Given the description of an element on the screen output the (x, y) to click on. 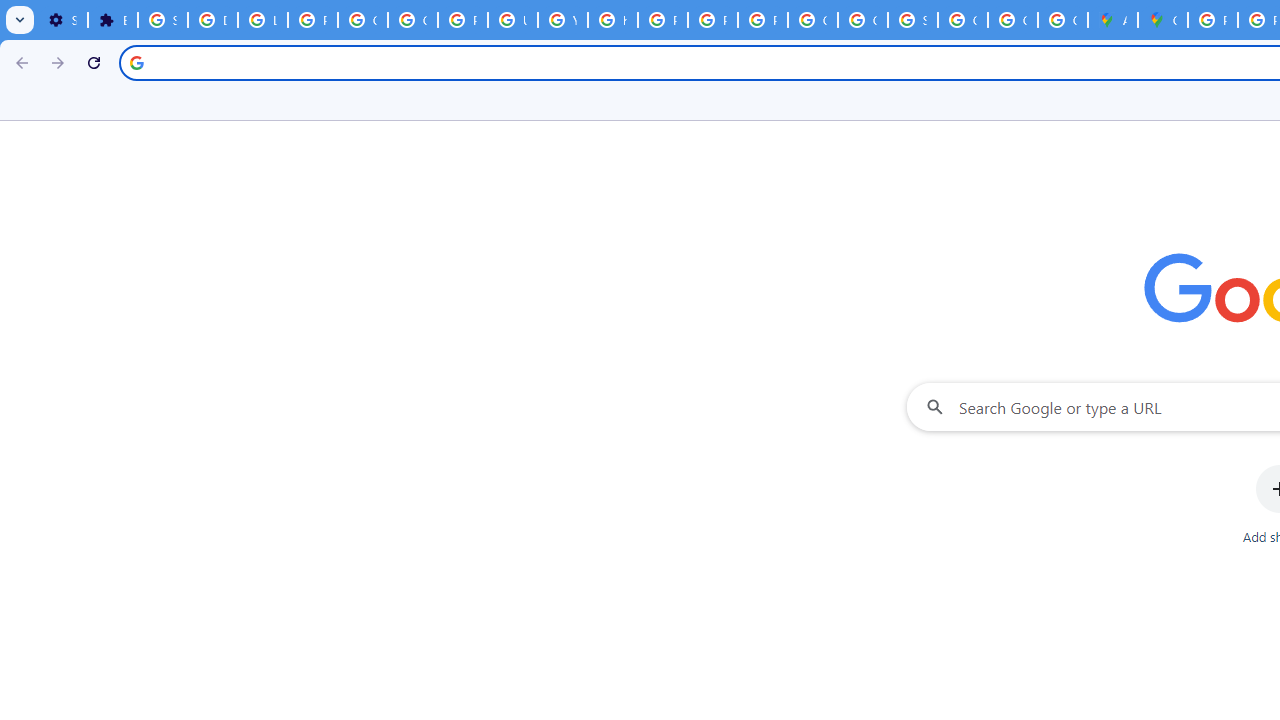
Google Account Help (412, 20)
